Given the description of an element on the screen output the (x, y) to click on. 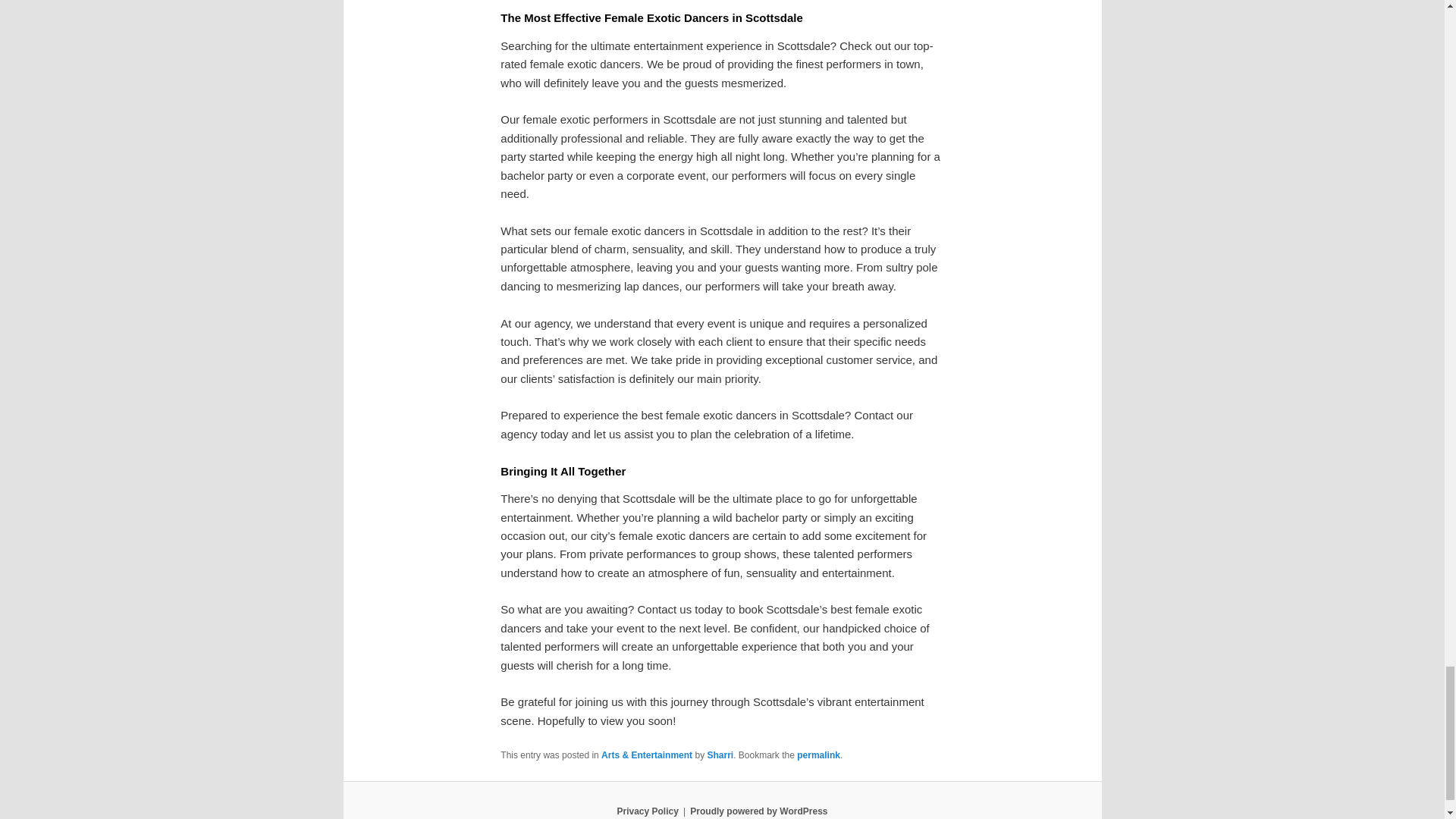
permalink (818, 755)
Proudly powered by WordPress (758, 810)
Semantic Personal Publishing Platform (758, 810)
Privacy Policy (646, 810)
Sharri (719, 755)
